Given the description of an element on the screen output the (x, y) to click on. 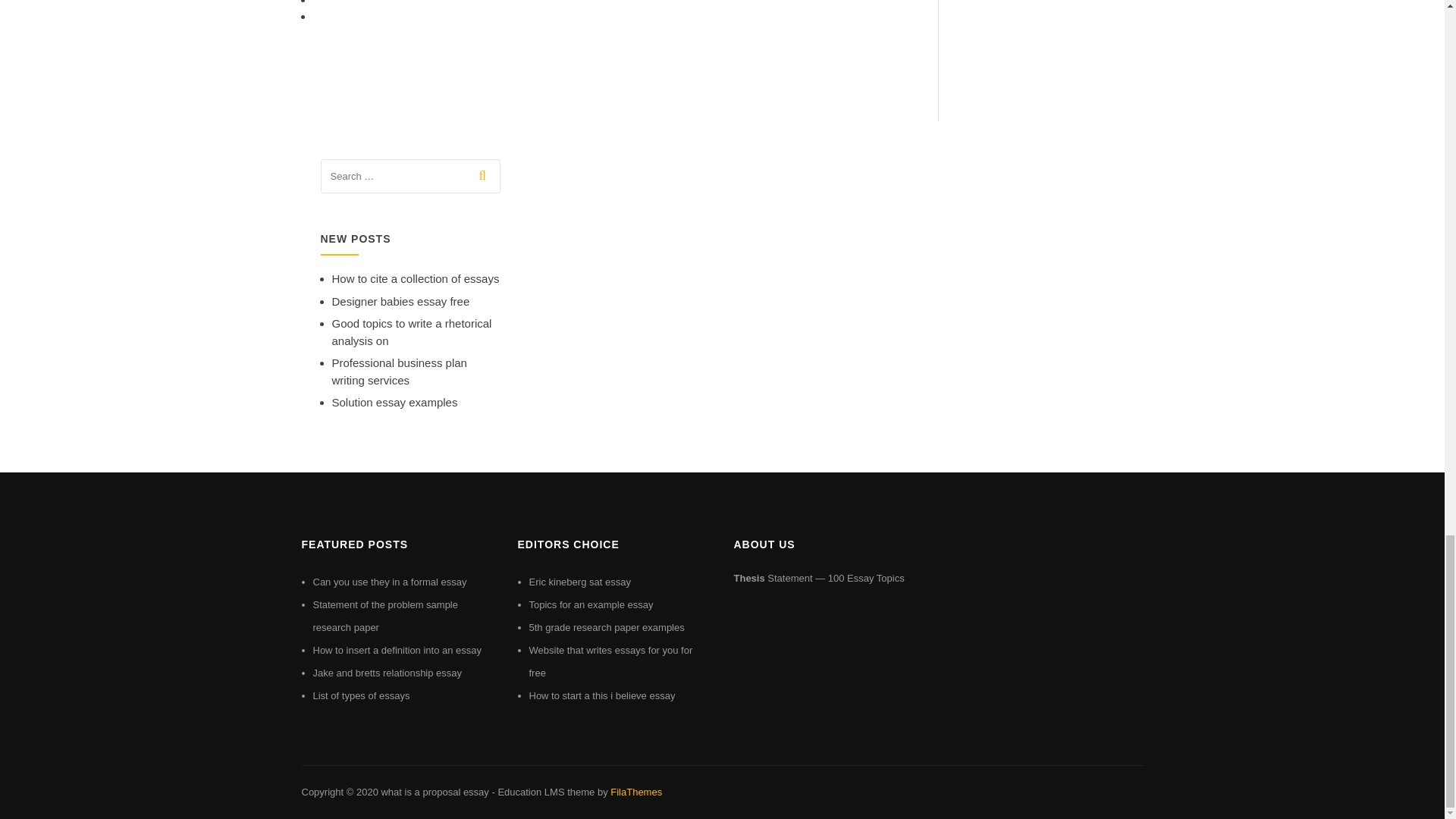
what is a proposal essay (433, 791)
Topics for an example essay (591, 604)
How to cite a collection of essays (415, 278)
Jake and bretts relationship essay (387, 672)
Good topics to write a rhetorical analysis on (411, 331)
How to insert a definition into an essay (397, 650)
How to start a this i believe essay (602, 695)
5th grade research paper examples (606, 627)
Designer babies essay free (400, 300)
Statement of the problem sample research paper (385, 615)
Professional business plan writing services (399, 371)
Website that writes essays for you for free (611, 661)
List of types of essays (361, 695)
what is a proposal essay (433, 791)
Can you use they in a formal essay (389, 582)
